Given the description of an element on the screen output the (x, y) to click on. 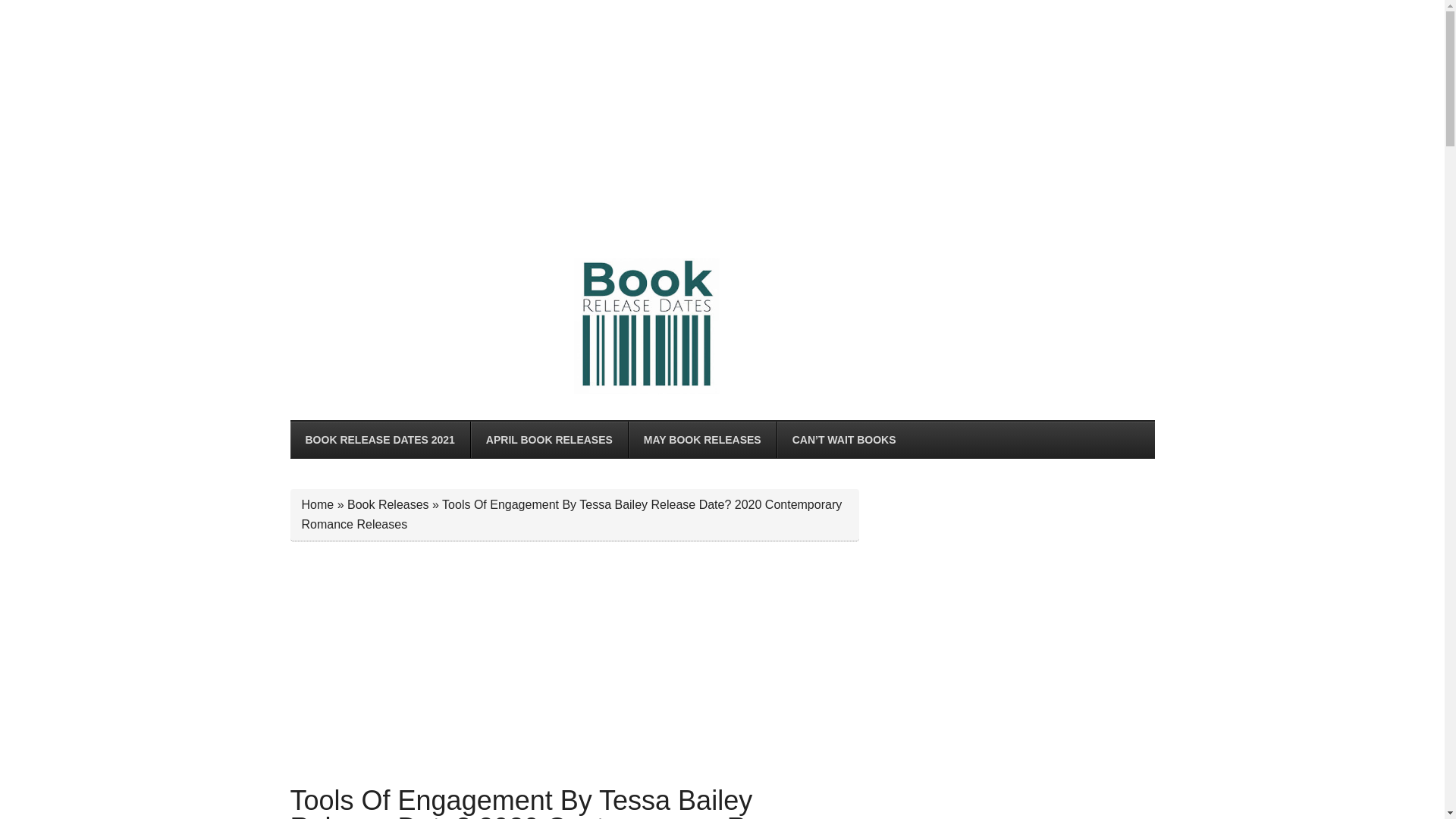
Advertisement (574, 662)
BOOK RELEASE DATES 2021 (378, 439)
APRIL BOOK RELEASES (548, 439)
Advertisement (1017, 775)
Book Release Dates (646, 325)
MAY BOOK RELEASES (701, 439)
Advertisement (1017, 594)
Book Releases (388, 504)
Home (317, 504)
